Given the description of an element on the screen output the (x, y) to click on. 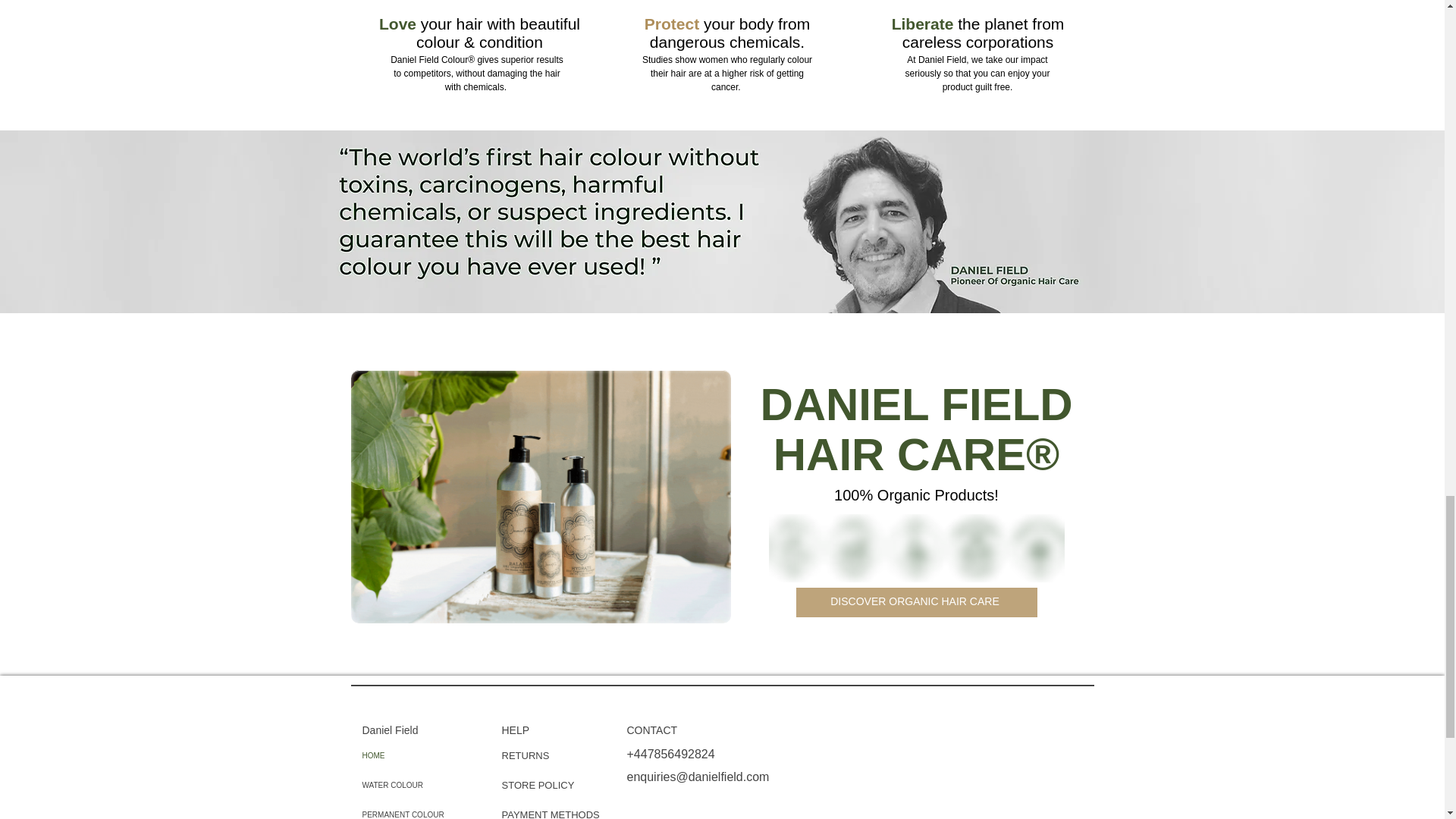
PERMANENT COLOUR (416, 809)
DISCOVER ORGANIC HAIR CARE (916, 602)
HOME (416, 755)
STORE POLICY  (539, 785)
PAYMENT METHODS (550, 814)
RETURNS (526, 755)
WATER COLOUR (416, 785)
